Given the description of an element on the screen output the (x, y) to click on. 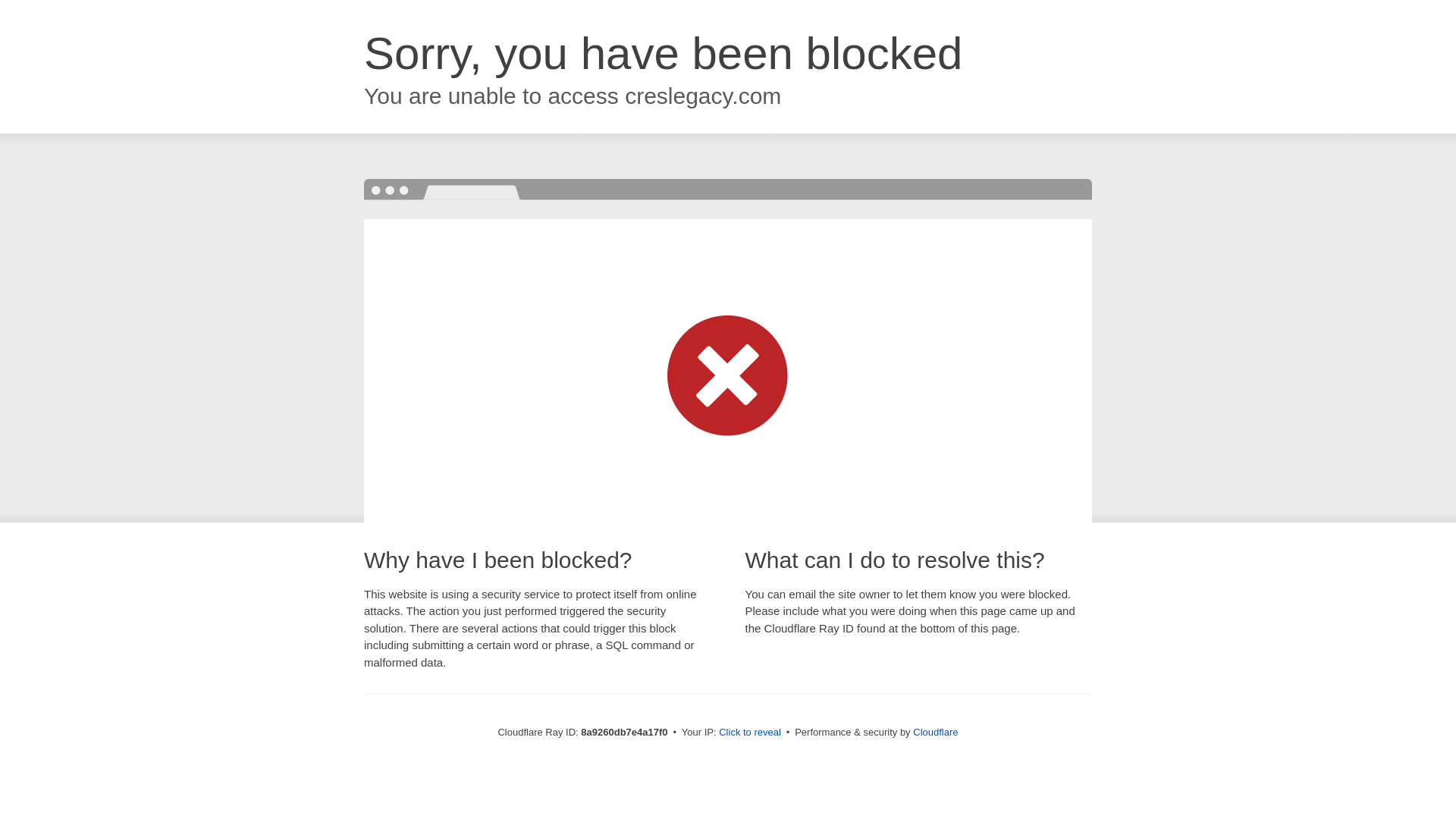
Cloudflare (935, 731)
Click to reveal (749, 732)
